Given the description of an element on the screen output the (x, y) to click on. 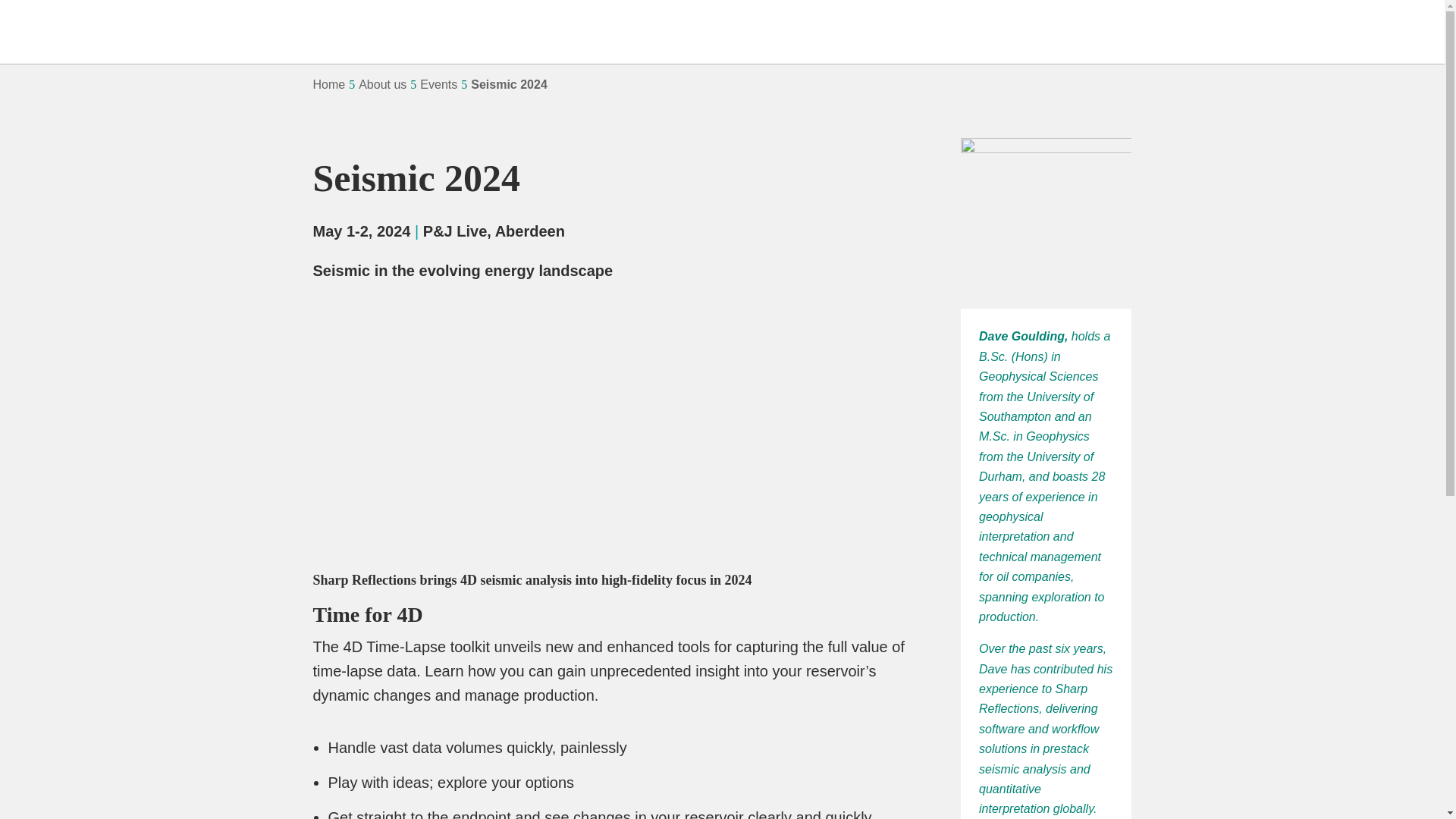
Events (438, 85)
Home (329, 85)
Seismic 2024 (508, 85)
1651578407336 (1045, 223)
About us (382, 85)
